Given the description of an element on the screen output the (x, y) to click on. 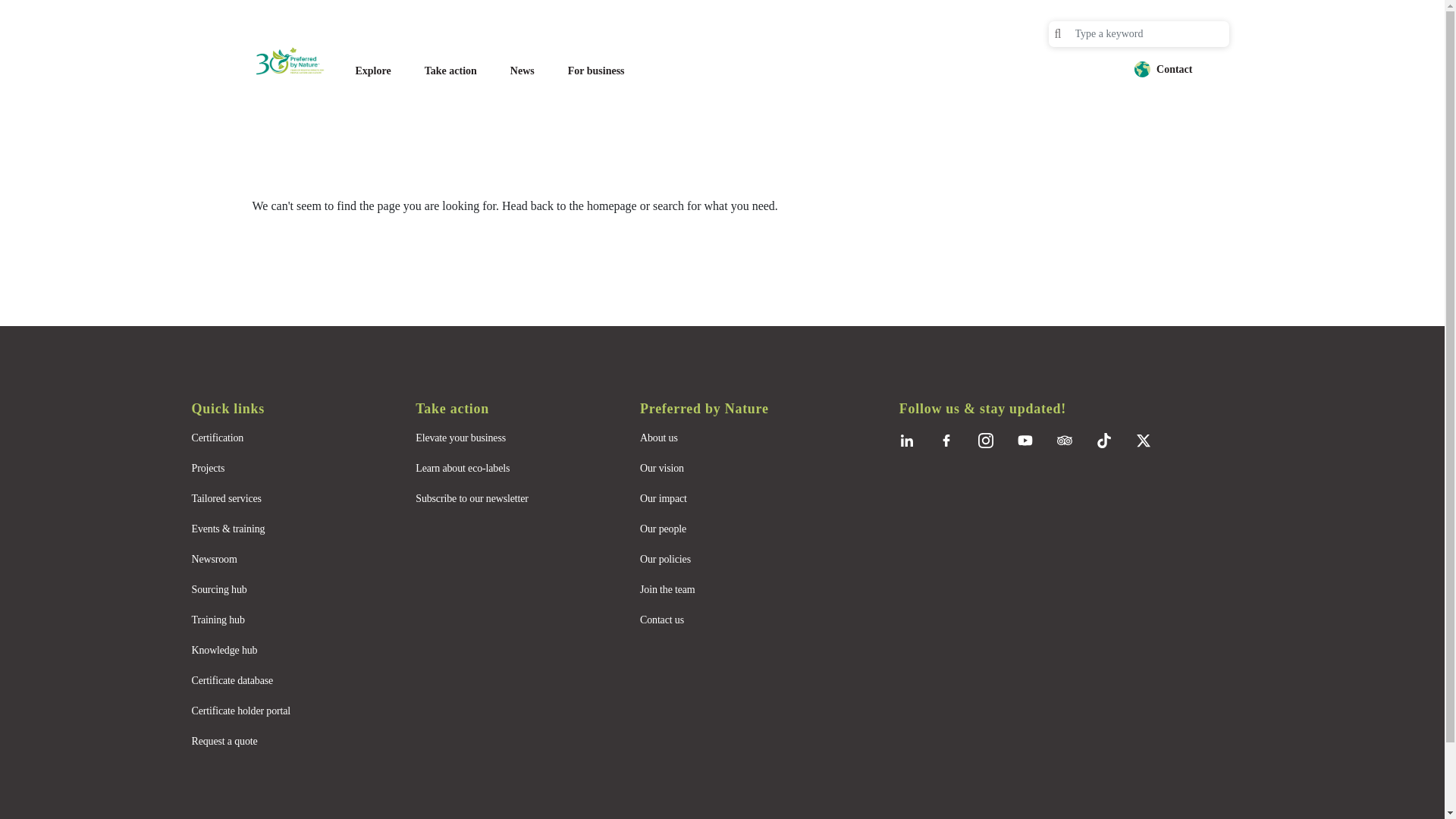
For Business (595, 70)
Home (296, 60)
